Given the description of an element on the screen output the (x, y) to click on. 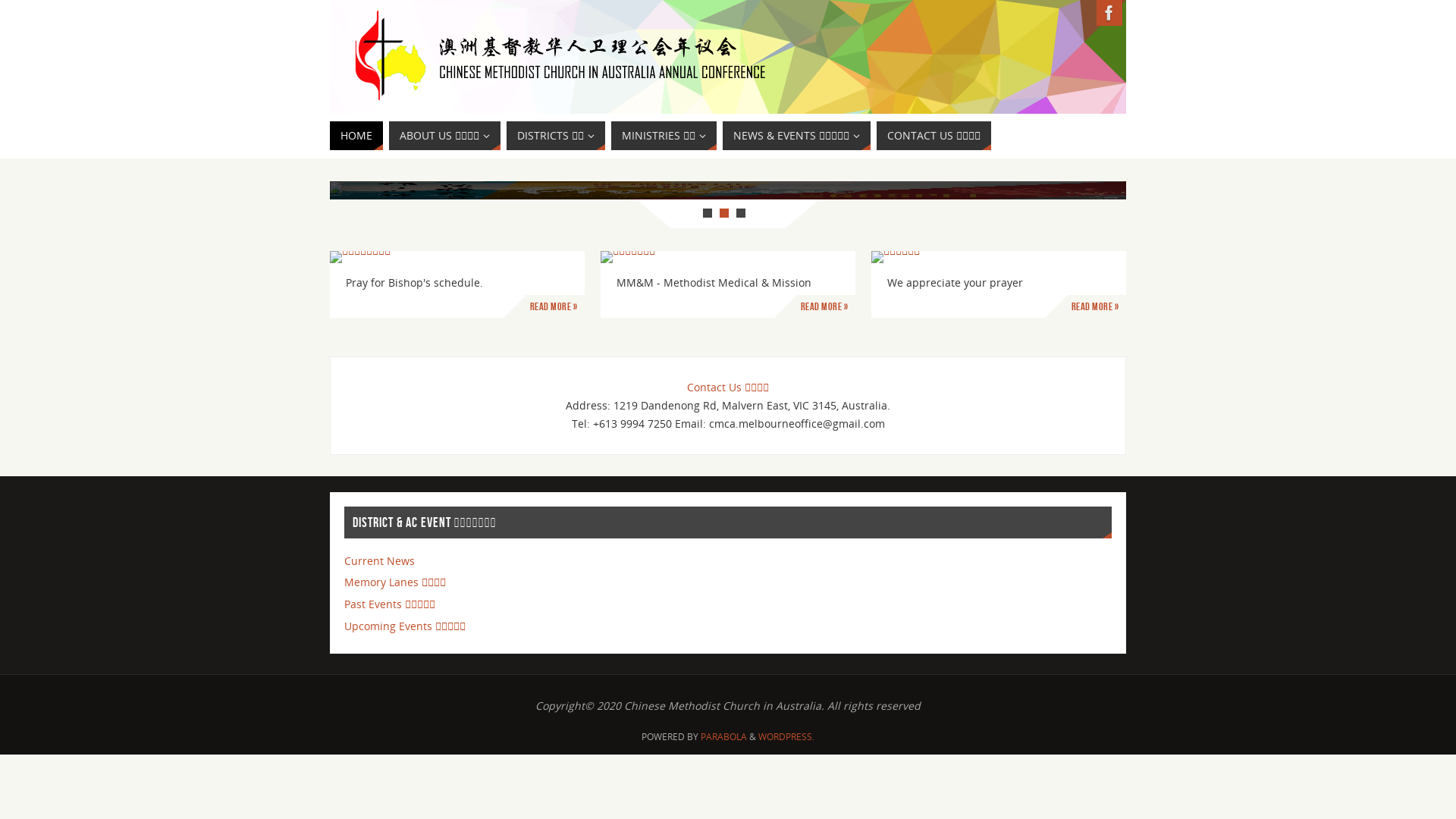
PARABOLA Element type: text (723, 736)
2 Element type: text (723, 212)
WORDPRESS. Element type: text (786, 736)
HOME Element type: text (355, 135)
Current News Element type: text (379, 560)
3 Element type: text (740, 212)
Facebook Element type: hover (1109, 12)
1 Element type: text (707, 212)
